Given the description of an element on the screen output the (x, y) to click on. 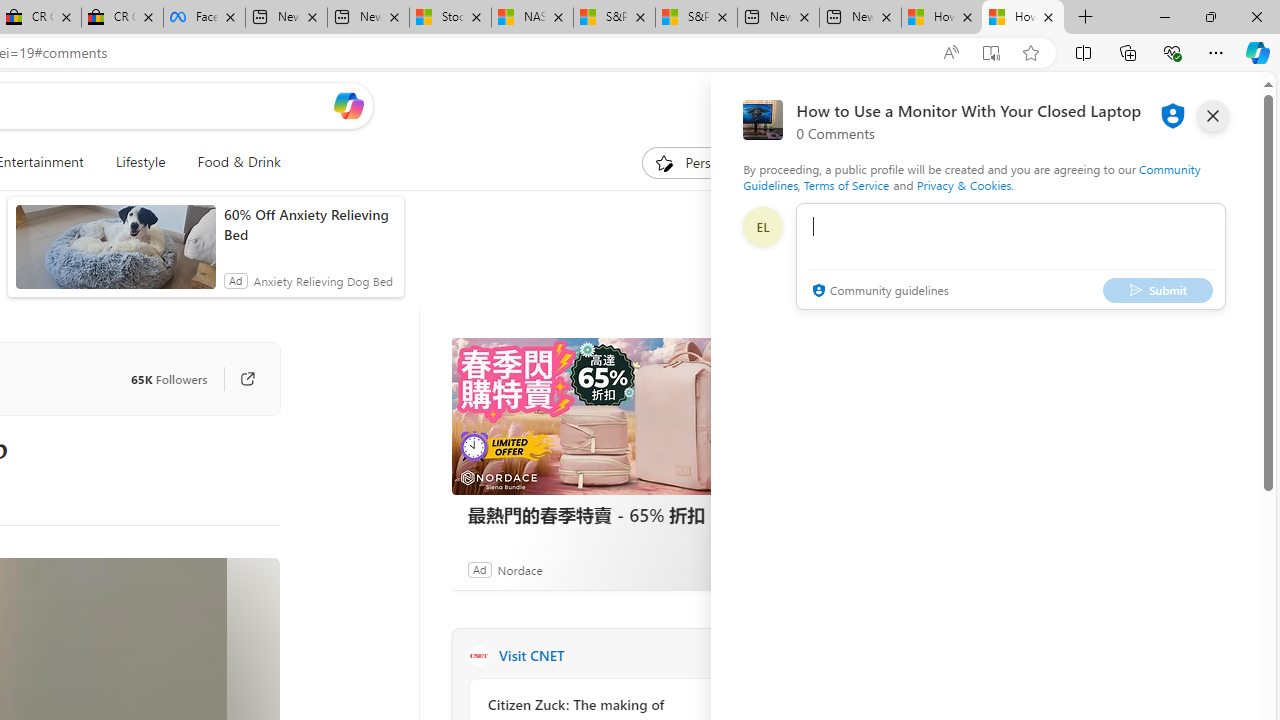
Community Guidelines (971, 176)
Lifestyle (140, 162)
Facebook (203, 17)
To get missing image descriptions, open the context menu. (664, 162)
Community guidelines (878, 291)
